Given the description of an element on the screen output the (x, y) to click on. 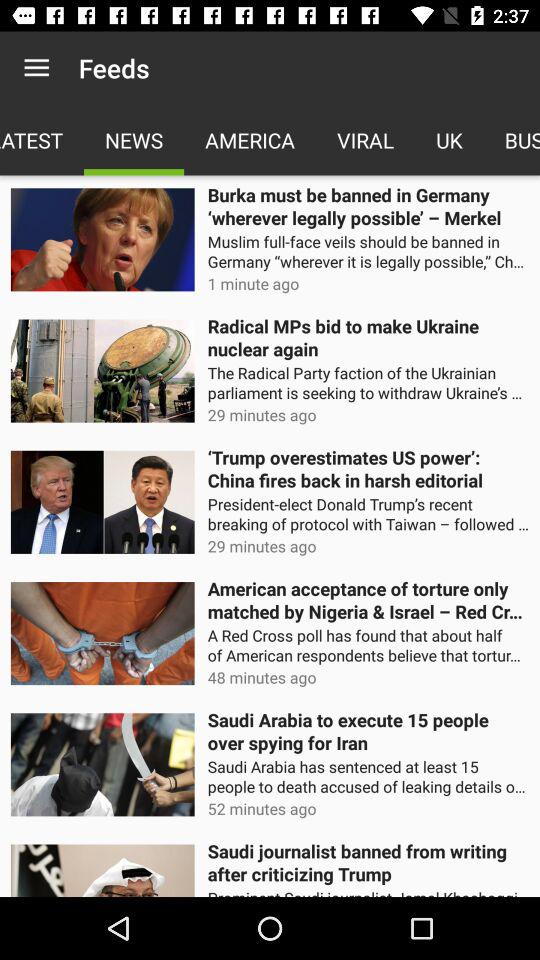
turn off news app (134, 140)
